Given the description of an element on the screen output the (x, y) to click on. 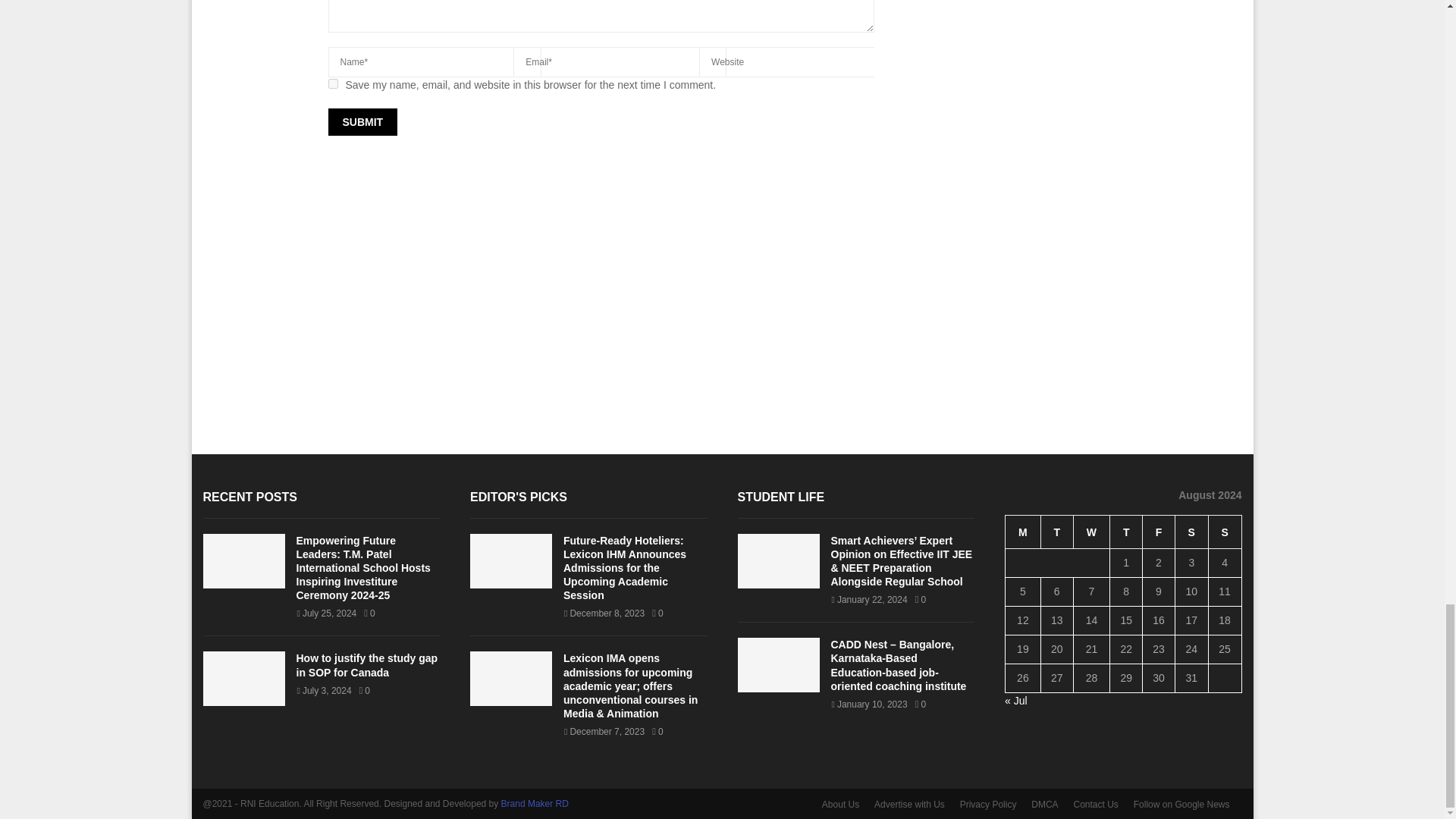
Submit (362, 121)
yes (332, 83)
